Given the description of an element on the screen output the (x, y) to click on. 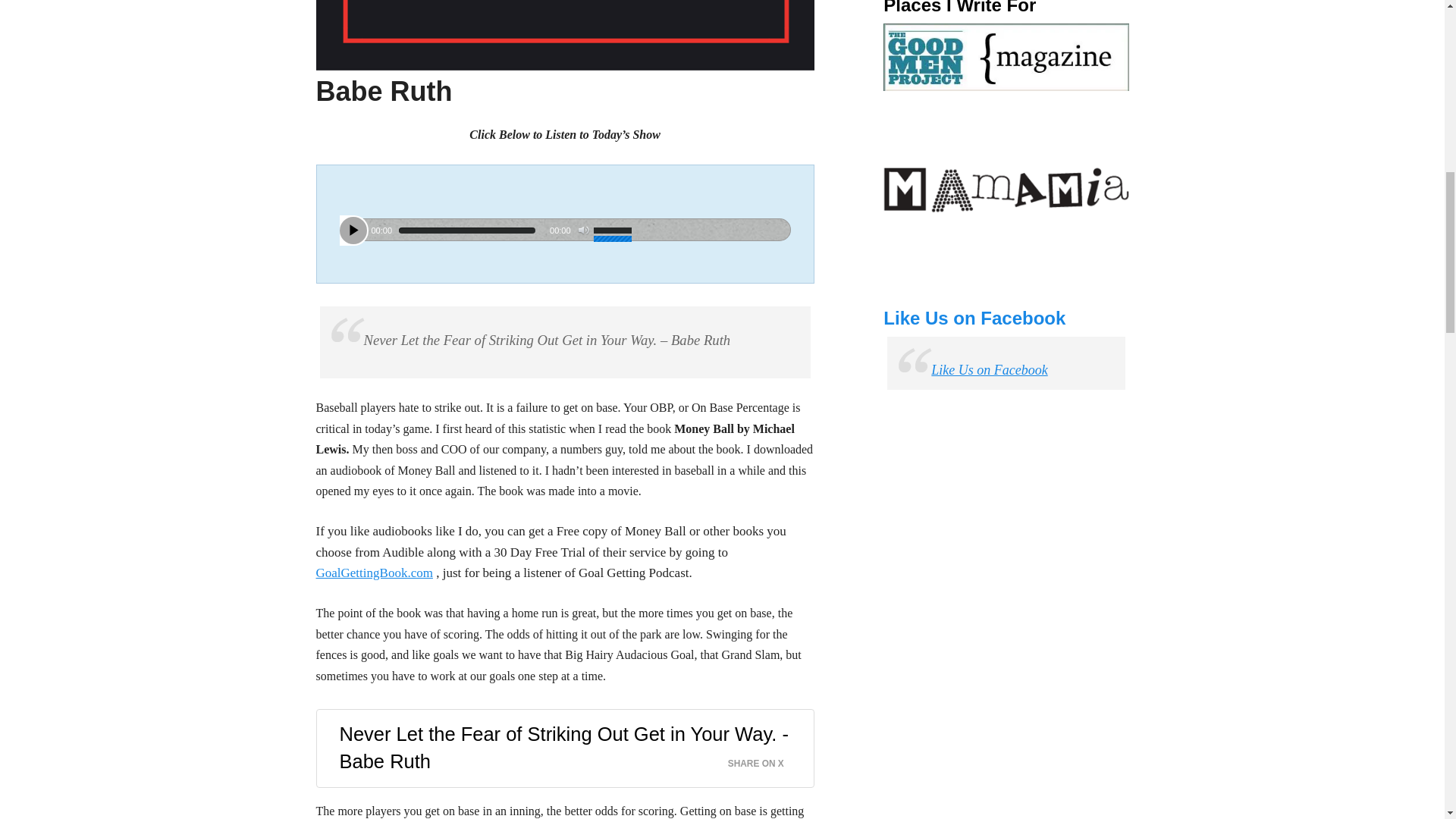
The Good Men Project magazine (1005, 57)
Mute (583, 230)
My article was re-posted to Mamma Mia blog in Australia  (1005, 190)
SHARE ON X (765, 759)
Play (352, 230)
GoalGettingBook.com (373, 572)
